Given the description of an element on the screen output the (x, y) to click on. 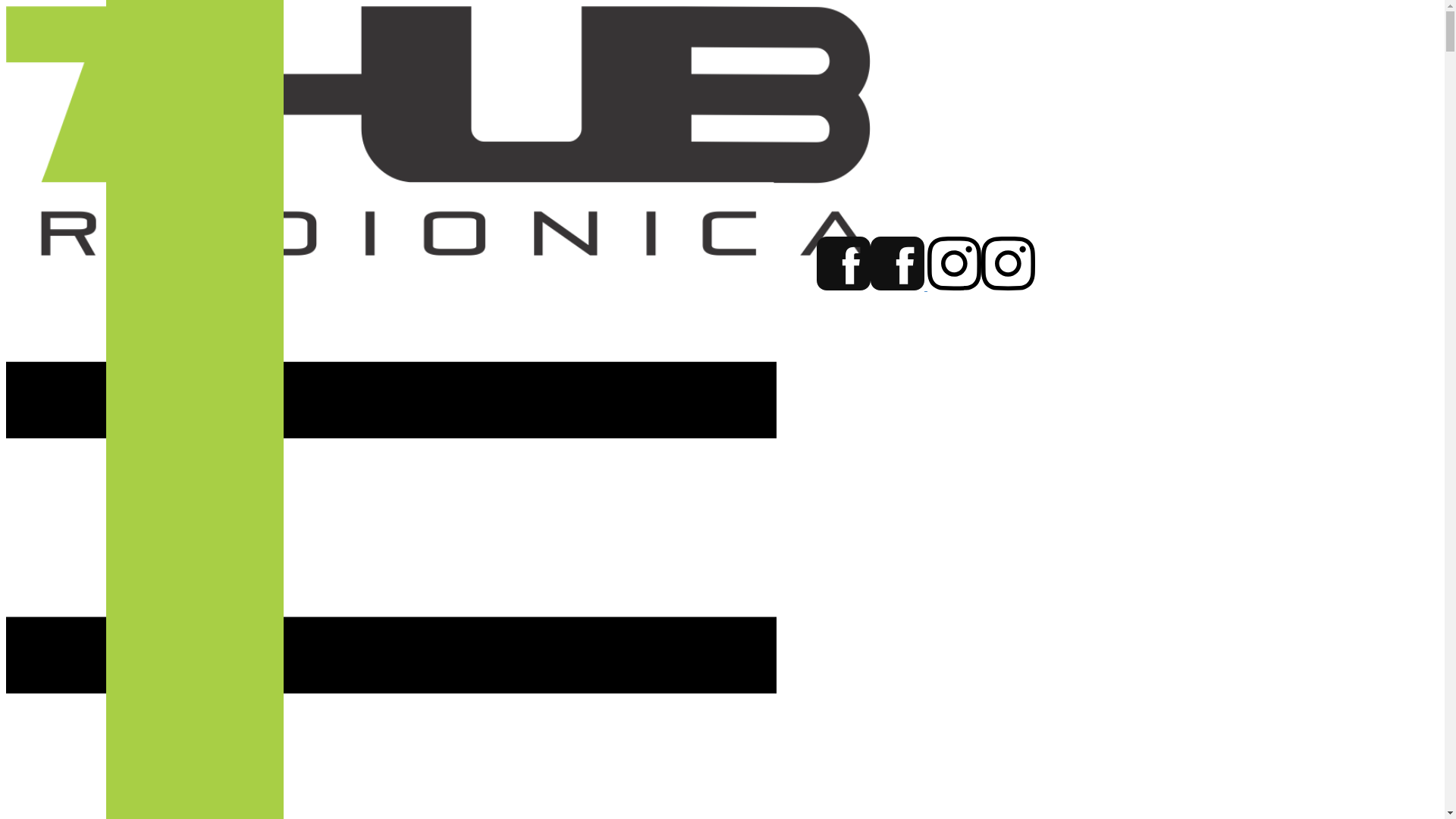
7HUB radionica Element type: hover (871, 285)
Home Element type: hover (438, 250)
radionica 7HUB Element type: hover (981, 285)
